Given the description of an element on the screen output the (x, y) to click on. 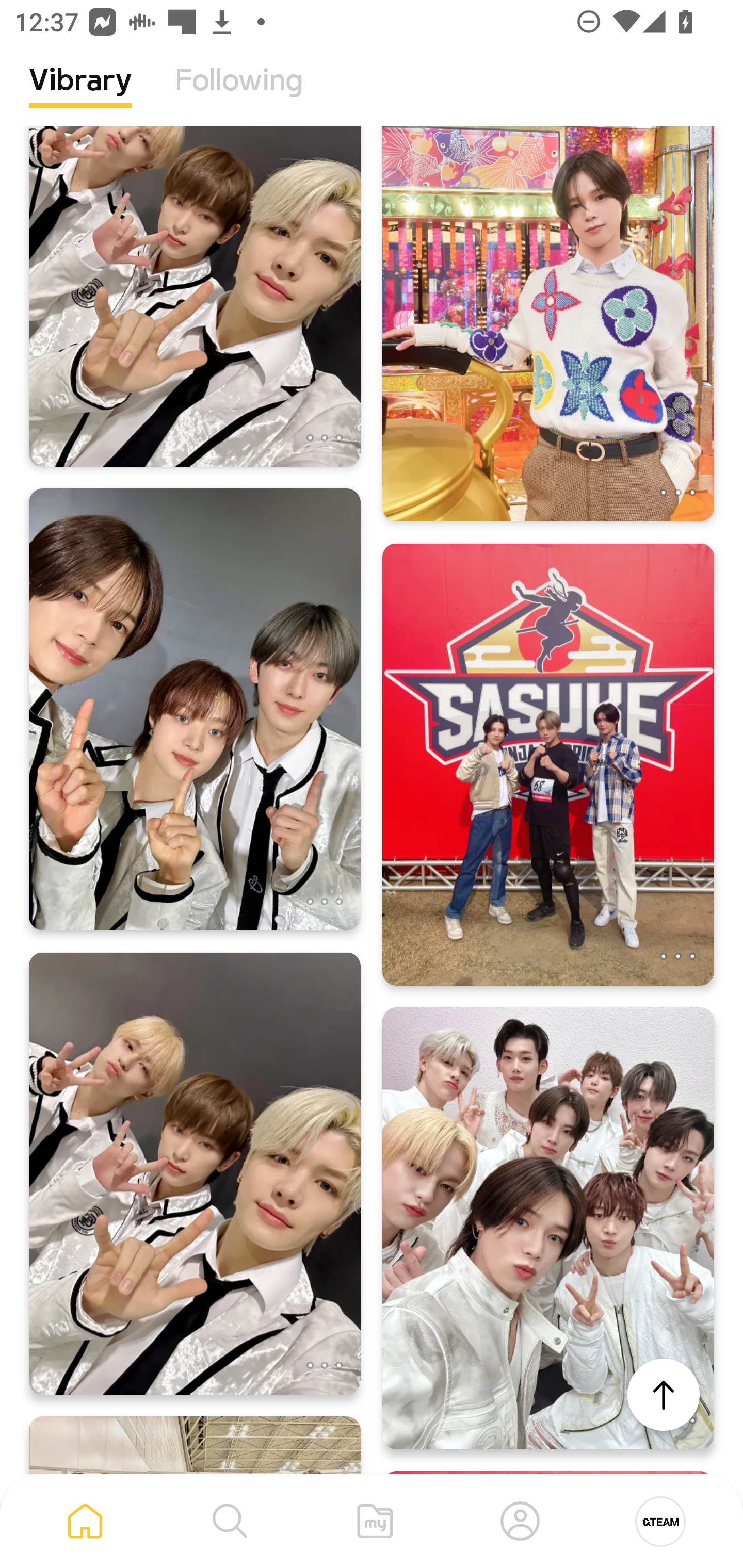
Vibrary (80, 95)
Following (239, 95)
